Given the description of an element on the screen output the (x, y) to click on. 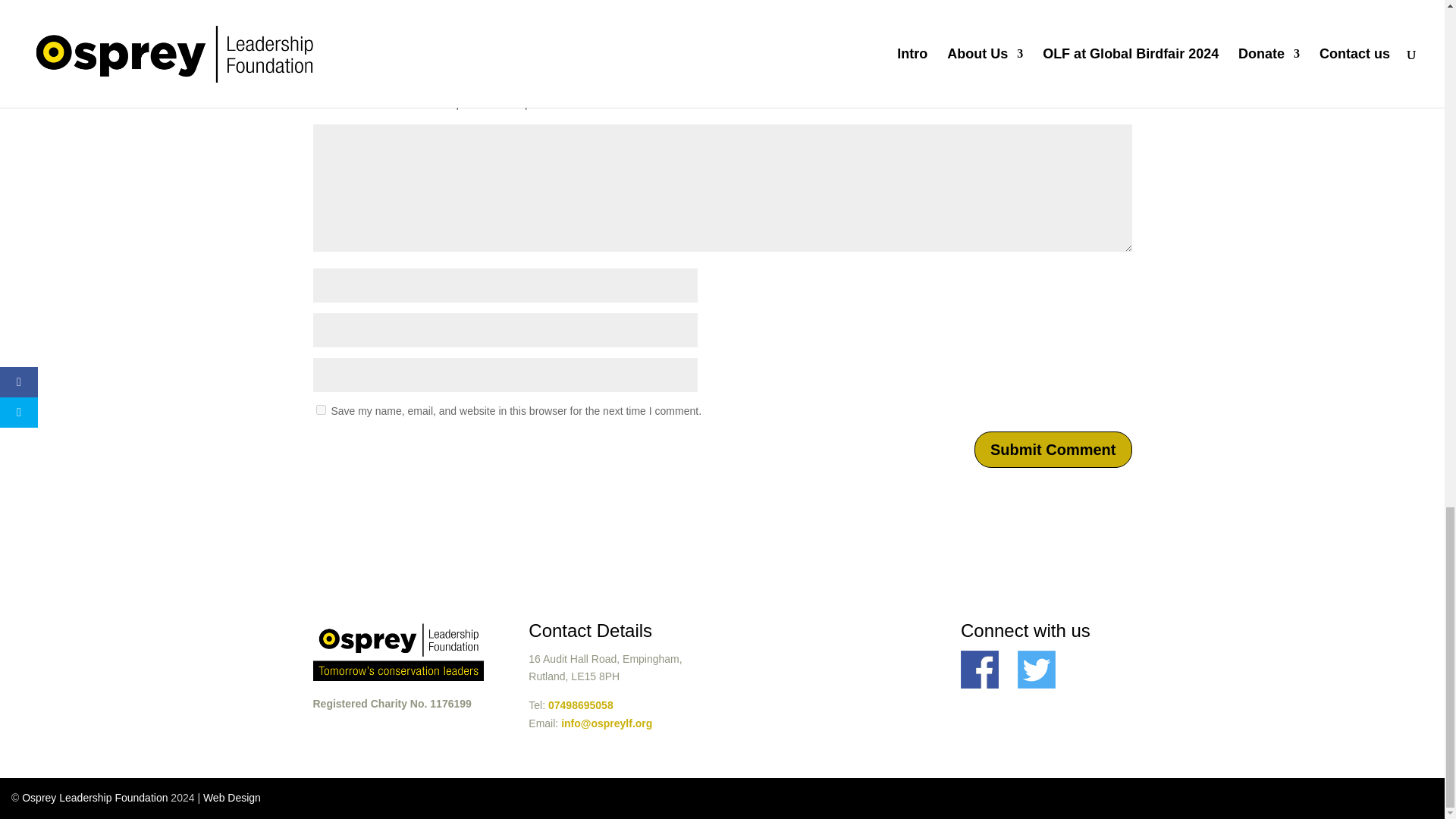
Submit Comment (1053, 449)
Osprey Leadership Foundation (94, 797)
07498695058 (580, 705)
Osprey Leadership Foundation (94, 797)
yes (319, 409)
Submit Comment (1053, 449)
